Given the description of an element on the screen output the (x, y) to click on. 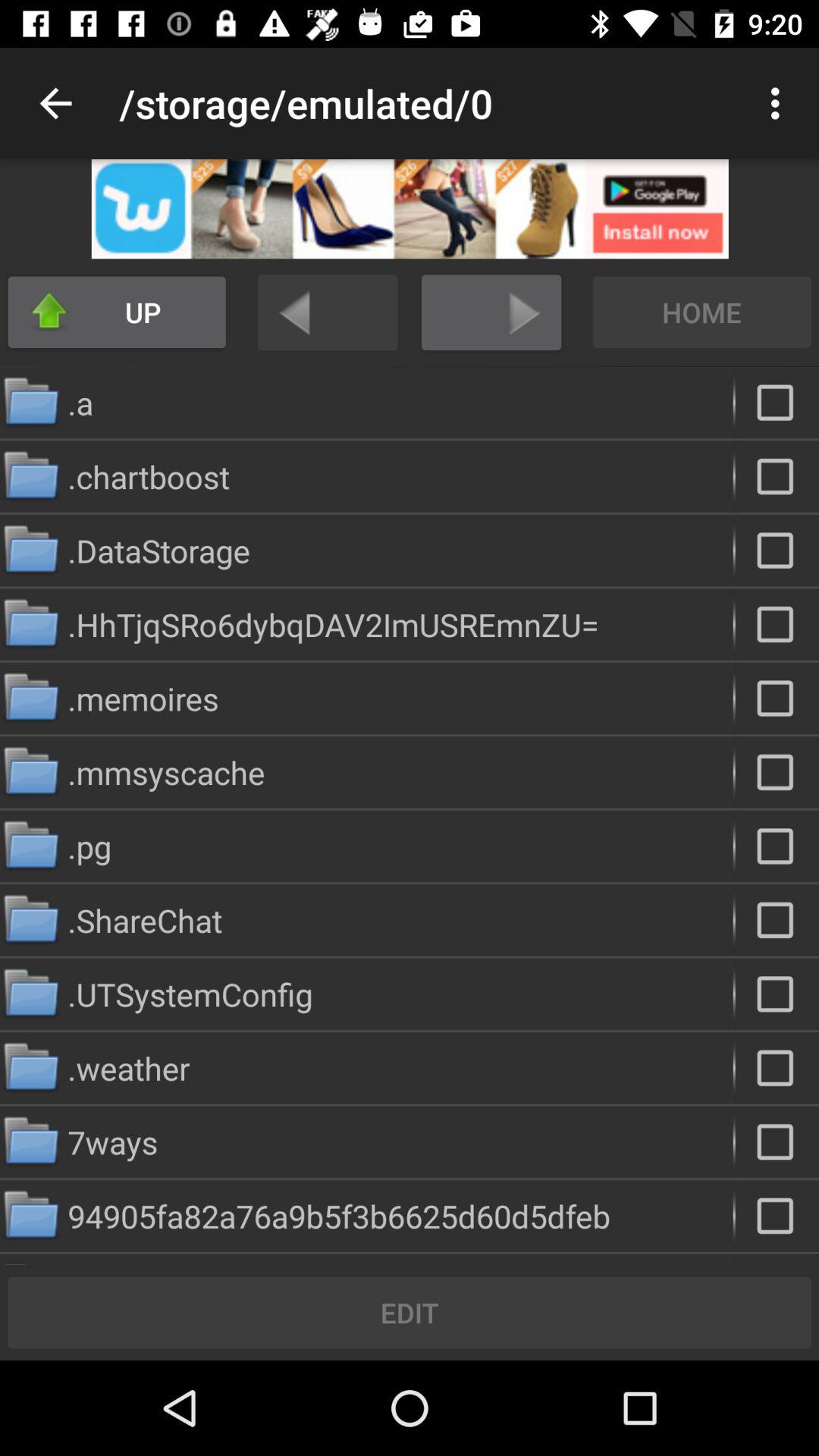
to select the specific file (777, 624)
